Given the description of an element on the screen output the (x, y) to click on. 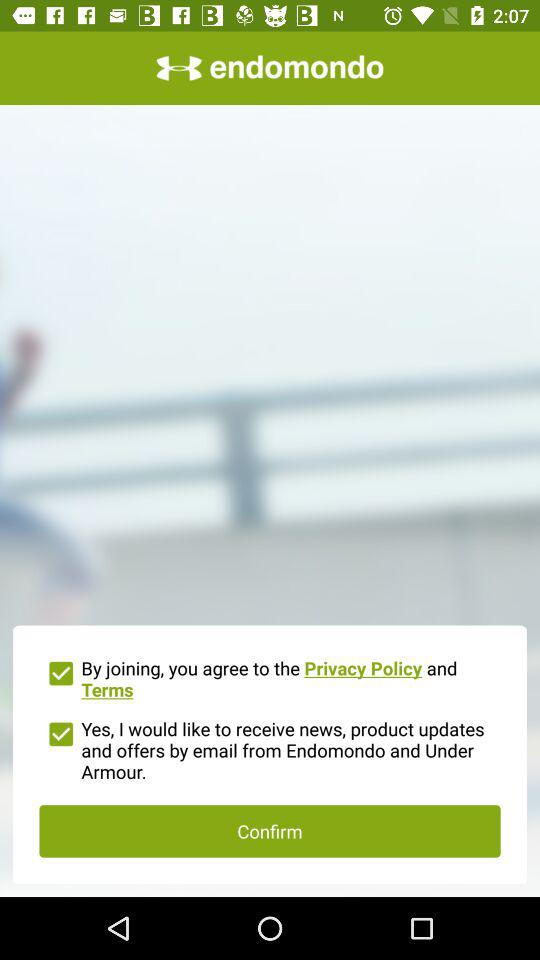
click the icon above the confirm icon (269, 748)
